Given the description of an element on the screen output the (x, y) to click on. 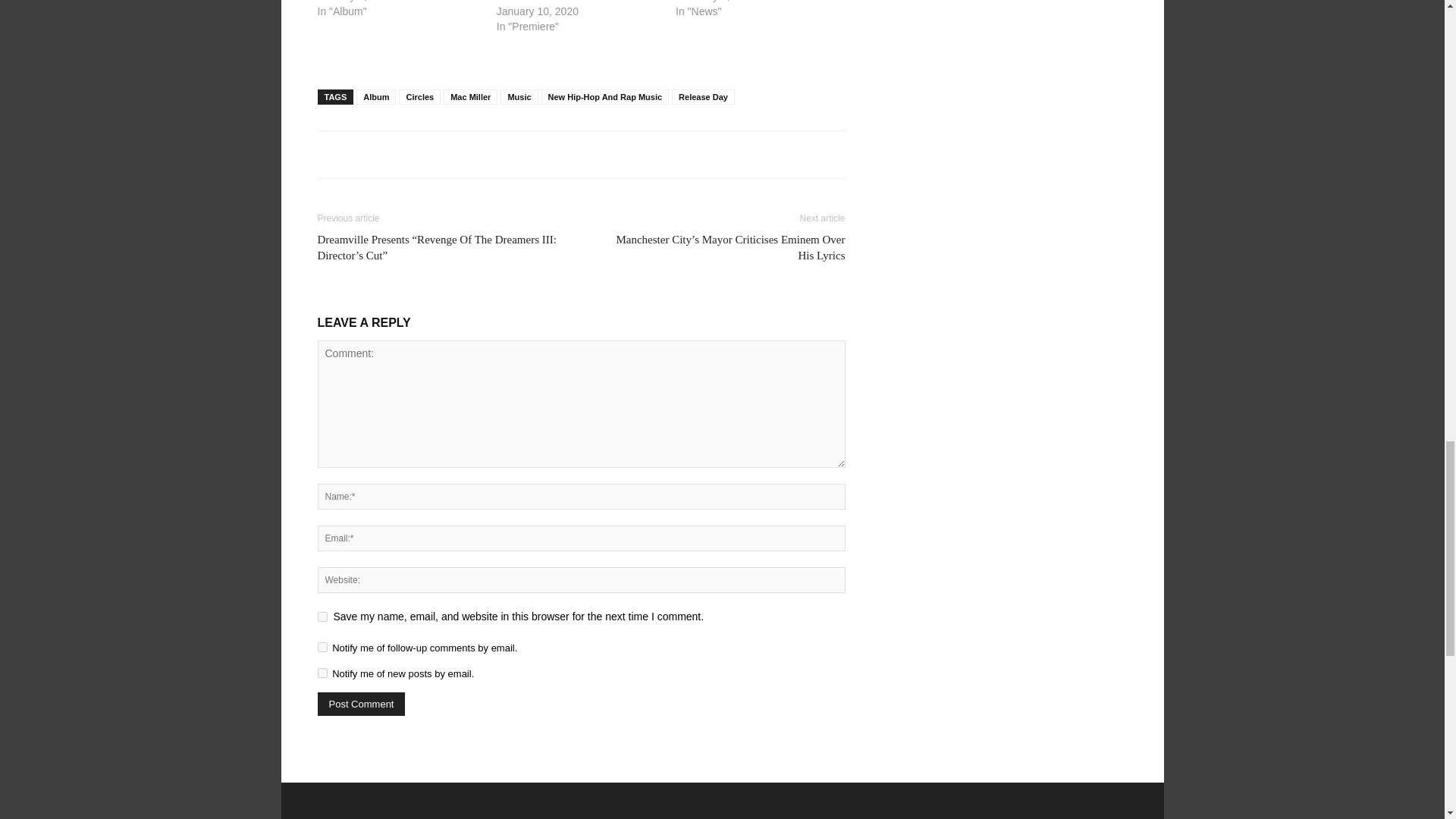
subscribe (321, 646)
subscribe (321, 673)
yes (321, 616)
Post Comment (360, 703)
